Given the description of an element on the screen output the (x, y) to click on. 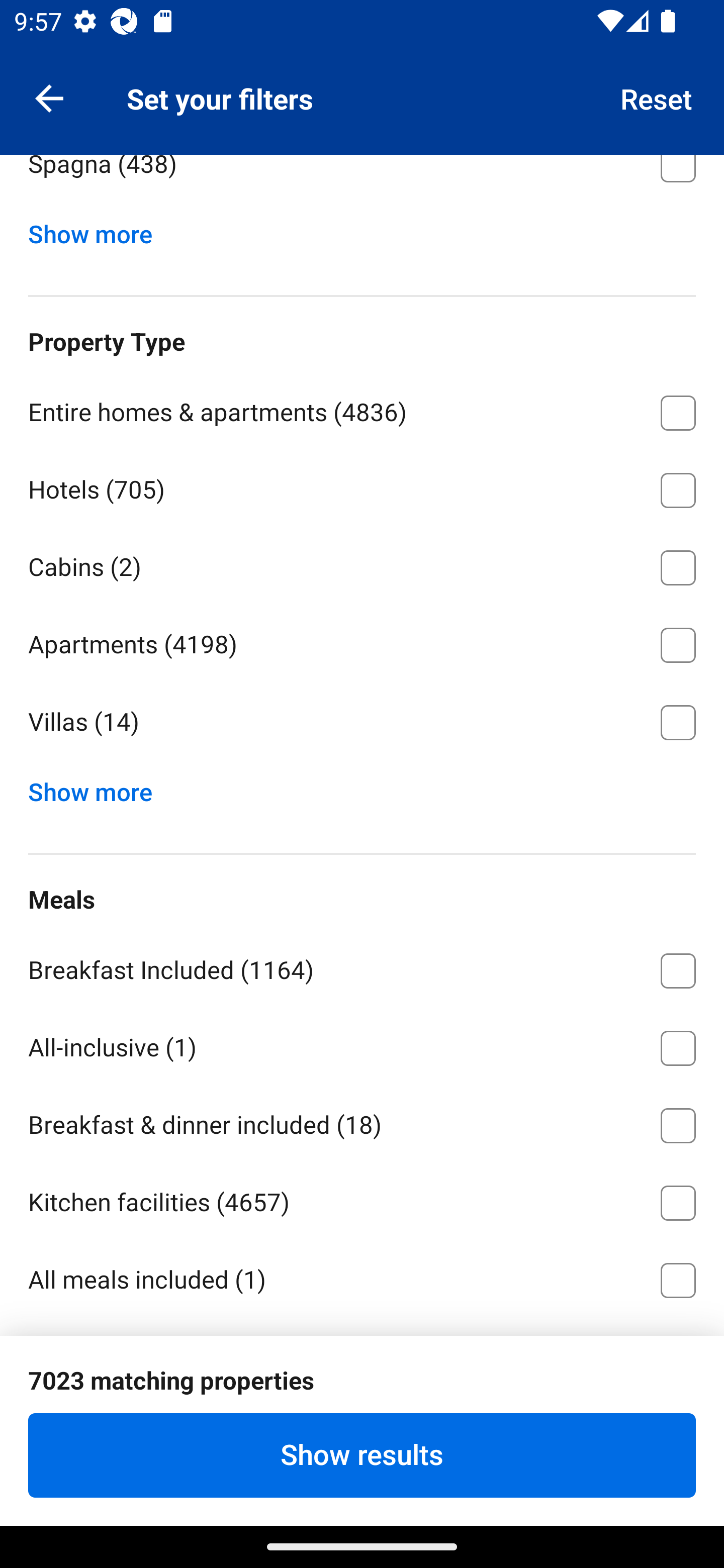
Colosseo ⁦(422) (361, 83)
Navigate up (49, 97)
Reset (656, 97)
Spagna ⁦(438) (361, 180)
Show more (97, 229)
Entire homes & apartments ⁦(4836) (361, 409)
Hotels ⁦(705) (361, 486)
Cabins ⁦(2) (361, 564)
Apartments ⁦(4198) (361, 641)
Villas ⁦(14) (361, 722)
Show more (97, 787)
Breakfast Included ⁦(1164) (361, 967)
All-inclusive ⁦(1) (361, 1044)
Breakfast & dinner included ⁦(18) (361, 1121)
Kitchen facilities ⁦(4657) (361, 1199)
All meals included ⁦(1) (361, 1278)
Show results (361, 1454)
